Given the description of an element on the screen output the (x, y) to click on. 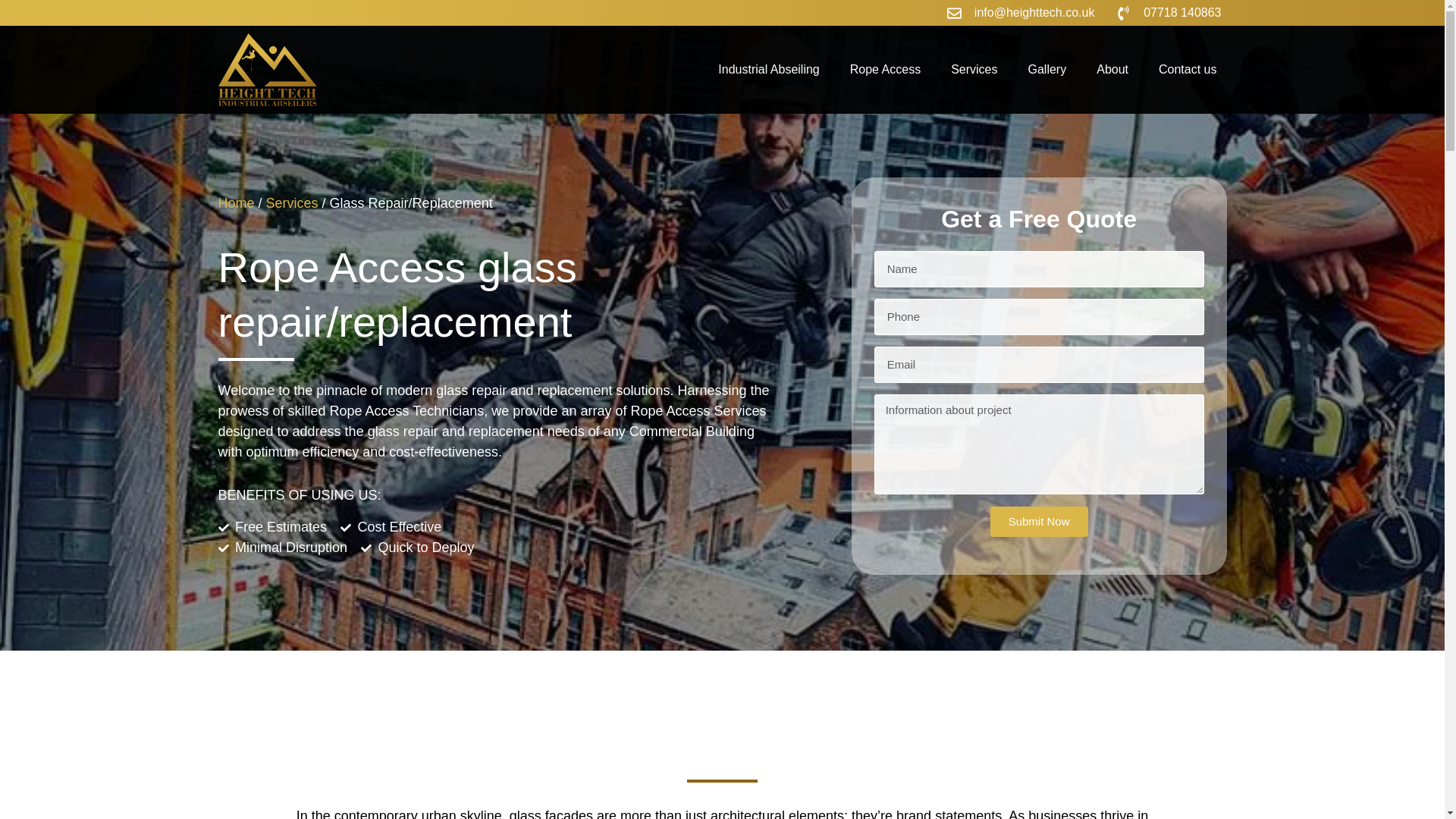
Industrial Abseiling (768, 69)
Gallery (1047, 69)
Services (973, 69)
Rope Access (885, 69)
Contact us (1186, 69)
07718 140863 (1168, 13)
